Given the description of an element on the screen output the (x, y) to click on. 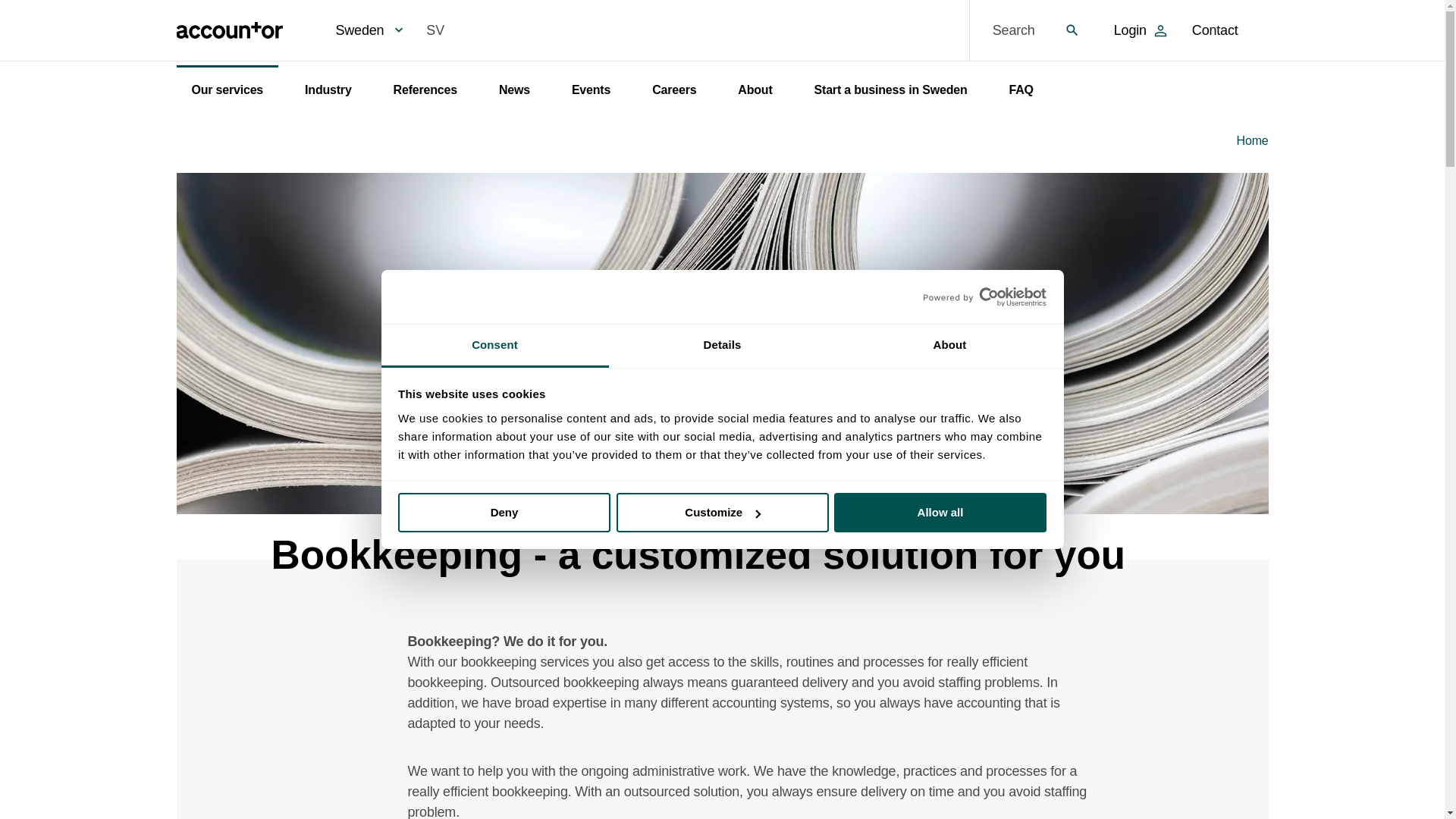
Consent (494, 345)
Details (721, 345)
About (948, 345)
